Given the description of an element on the screen output the (x, y) to click on. 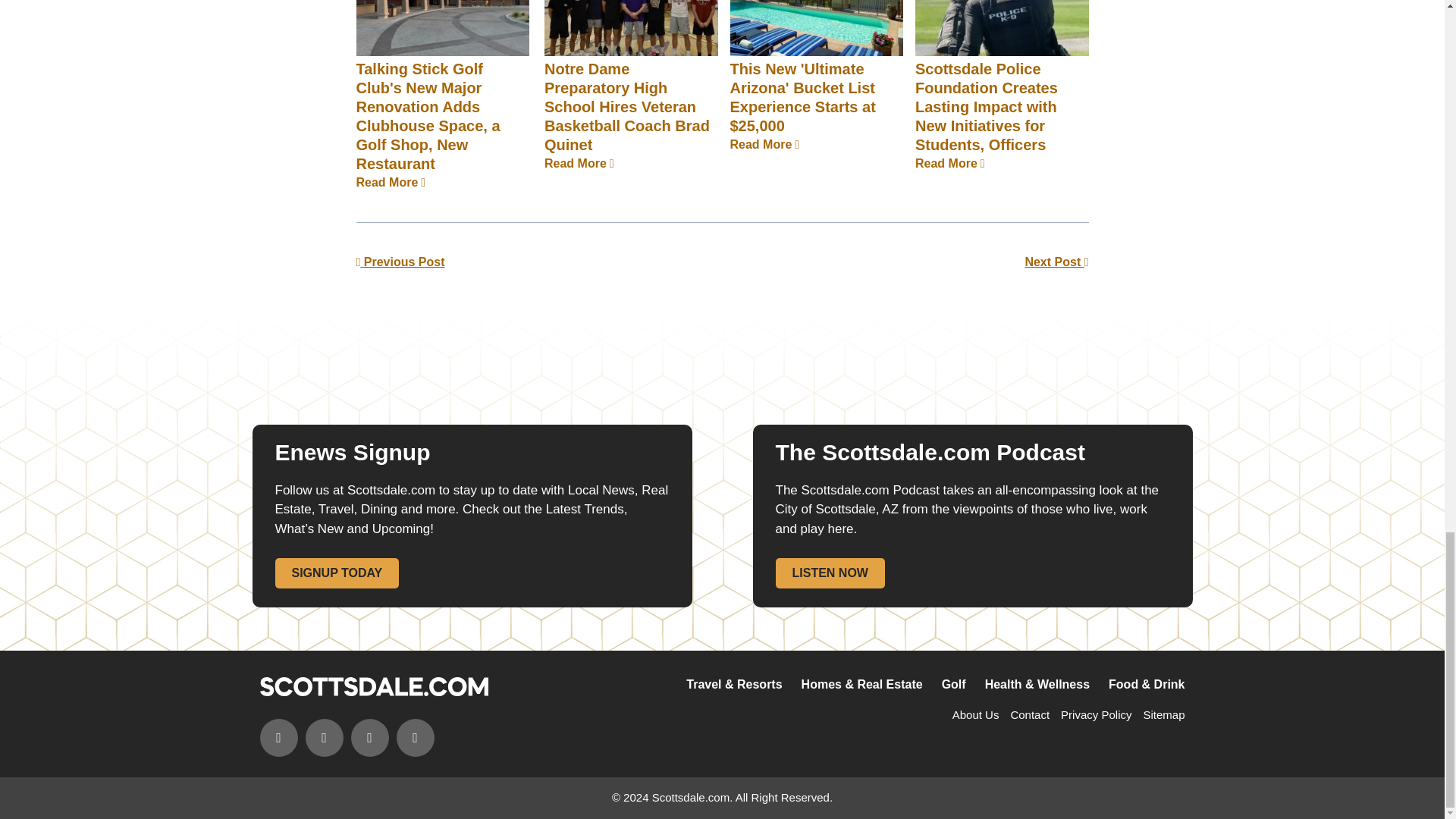
Visit our tiktok page (414, 737)
Visit our instagram page (323, 737)
Visit our facebook page (278, 737)
Visit our x page (369, 737)
